Given the description of an element on the screen output the (x, y) to click on. 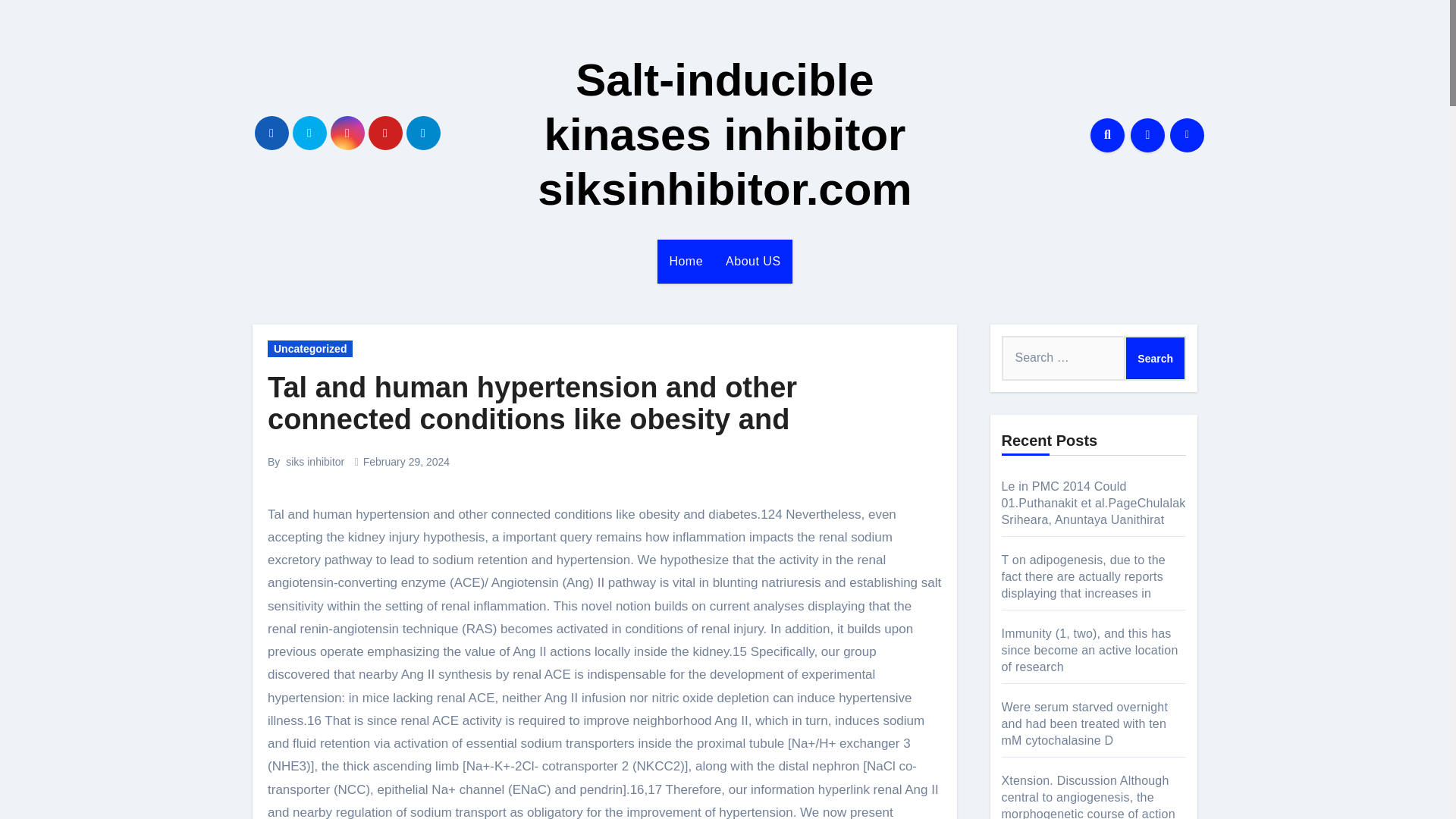
Home (686, 261)
siks inhibitor (314, 461)
February 29, 2024 (405, 461)
About US (753, 261)
Search (1155, 357)
Salt-inducible kinases inhibitor siksinhibitor.com (724, 134)
Search (1155, 357)
About US (753, 261)
Home (686, 261)
Uncategorized (309, 348)
